Given the description of an element on the screen output the (x, y) to click on. 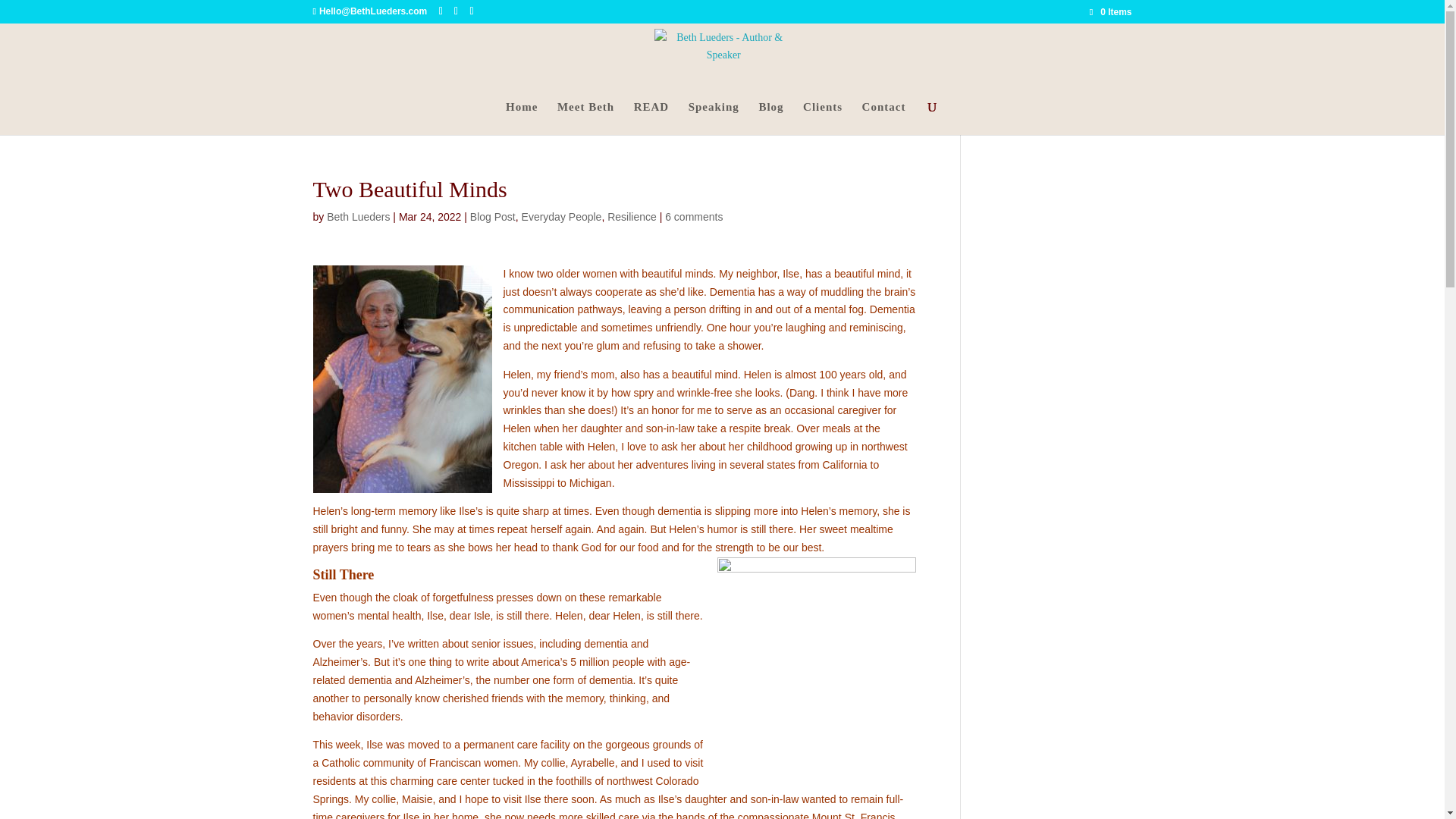
Speaking (713, 118)
Meet Beth (585, 118)
Contact (883, 118)
Home (521, 118)
Clients (823, 118)
Everyday People (561, 216)
Beth Lueders (358, 216)
Resilience (631, 216)
0 Items (1110, 11)
6 comments (693, 216)
READ (651, 118)
Blog Post (492, 216)
Posts by Beth Lueders (358, 216)
